Given the description of an element on the screen output the (x, y) to click on. 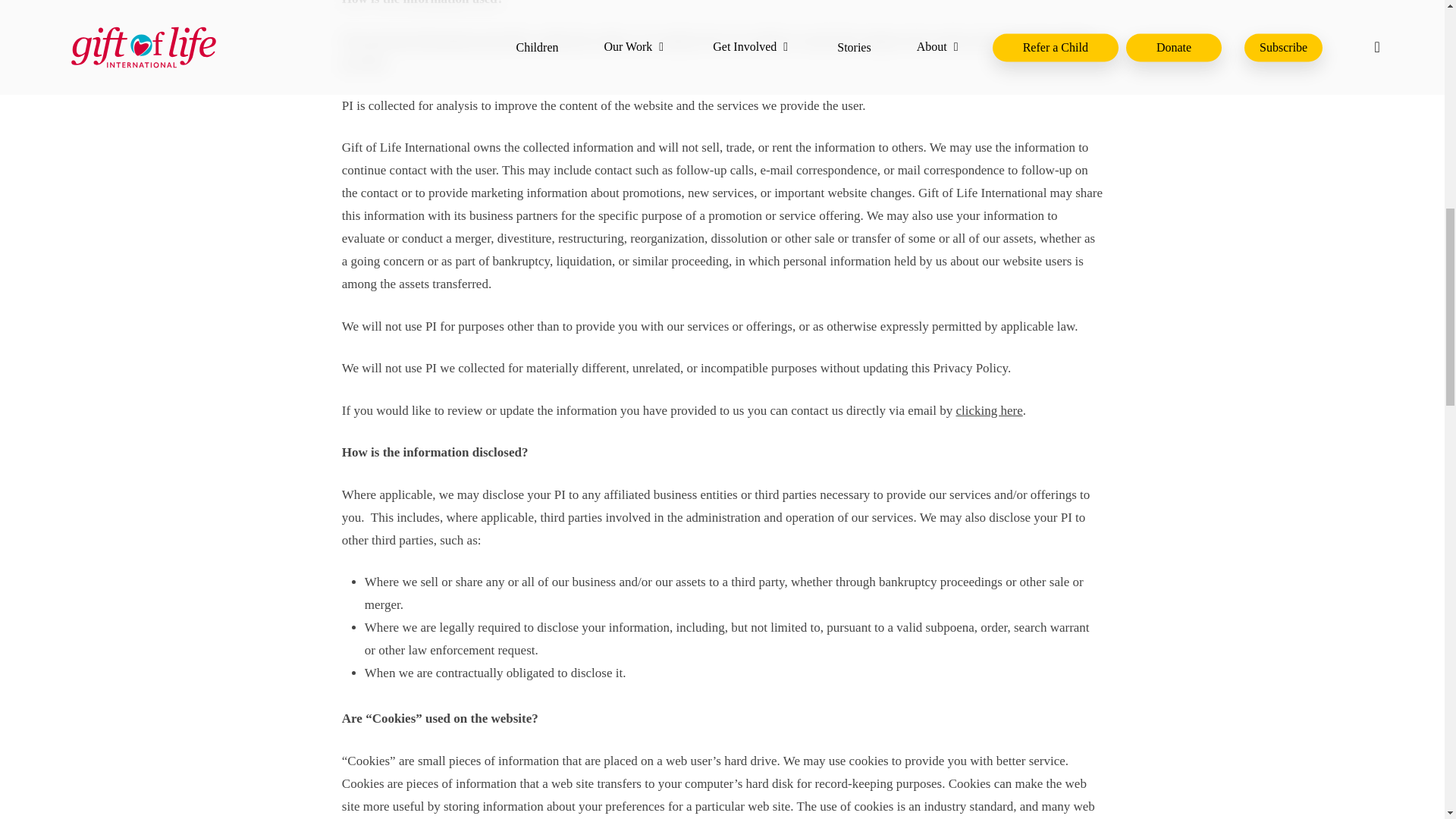
clicking here (988, 410)
